Given the description of an element on the screen output the (x, y) to click on. 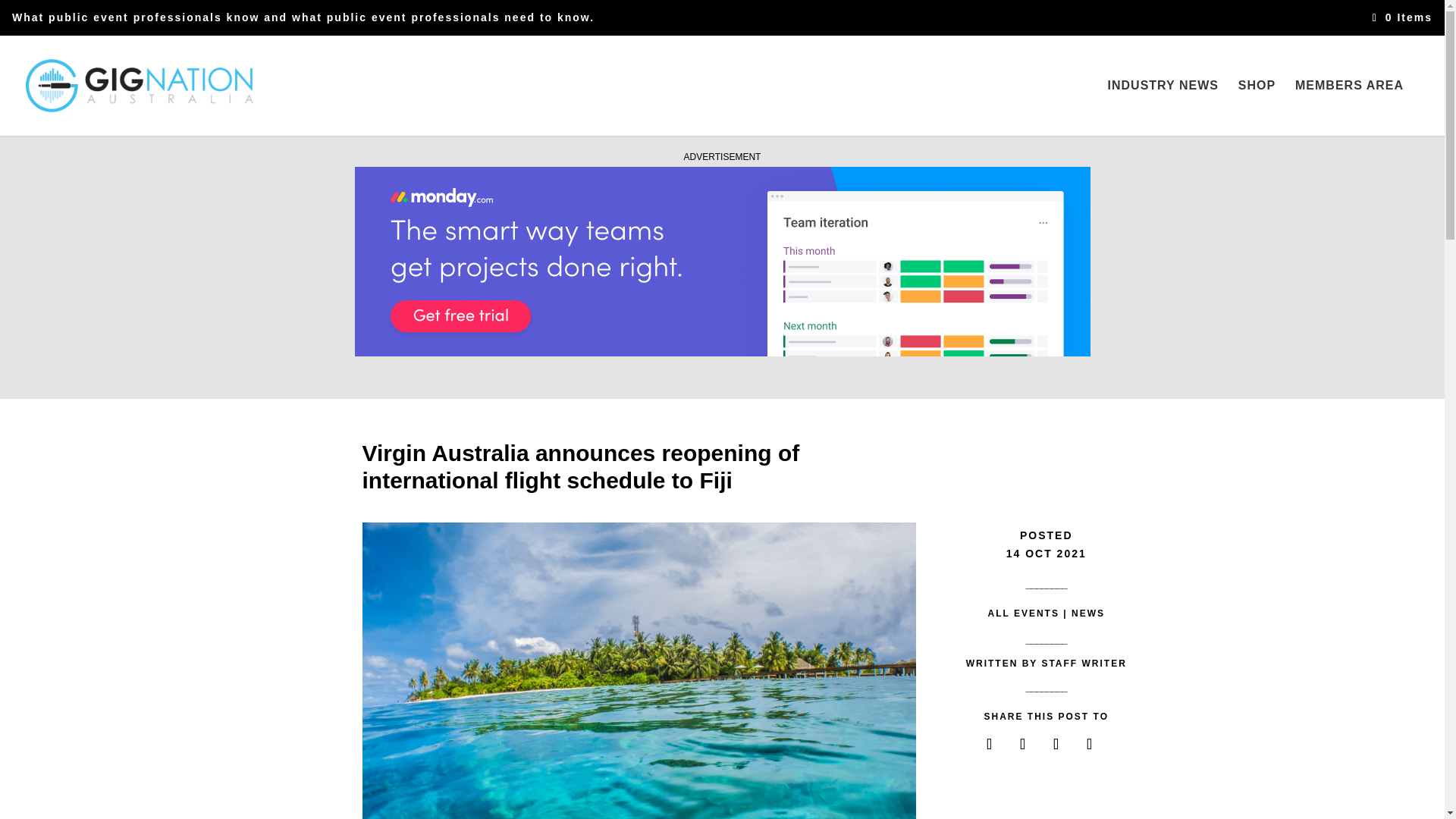
INDUSTRY NEWS (1163, 107)
0 Items (1402, 17)
MEMBERS AREA (1349, 107)
ALL EVENTS (1022, 613)
SHOP (1257, 107)
NEWS (1088, 613)
